Given the description of an element on the screen output the (x, y) to click on. 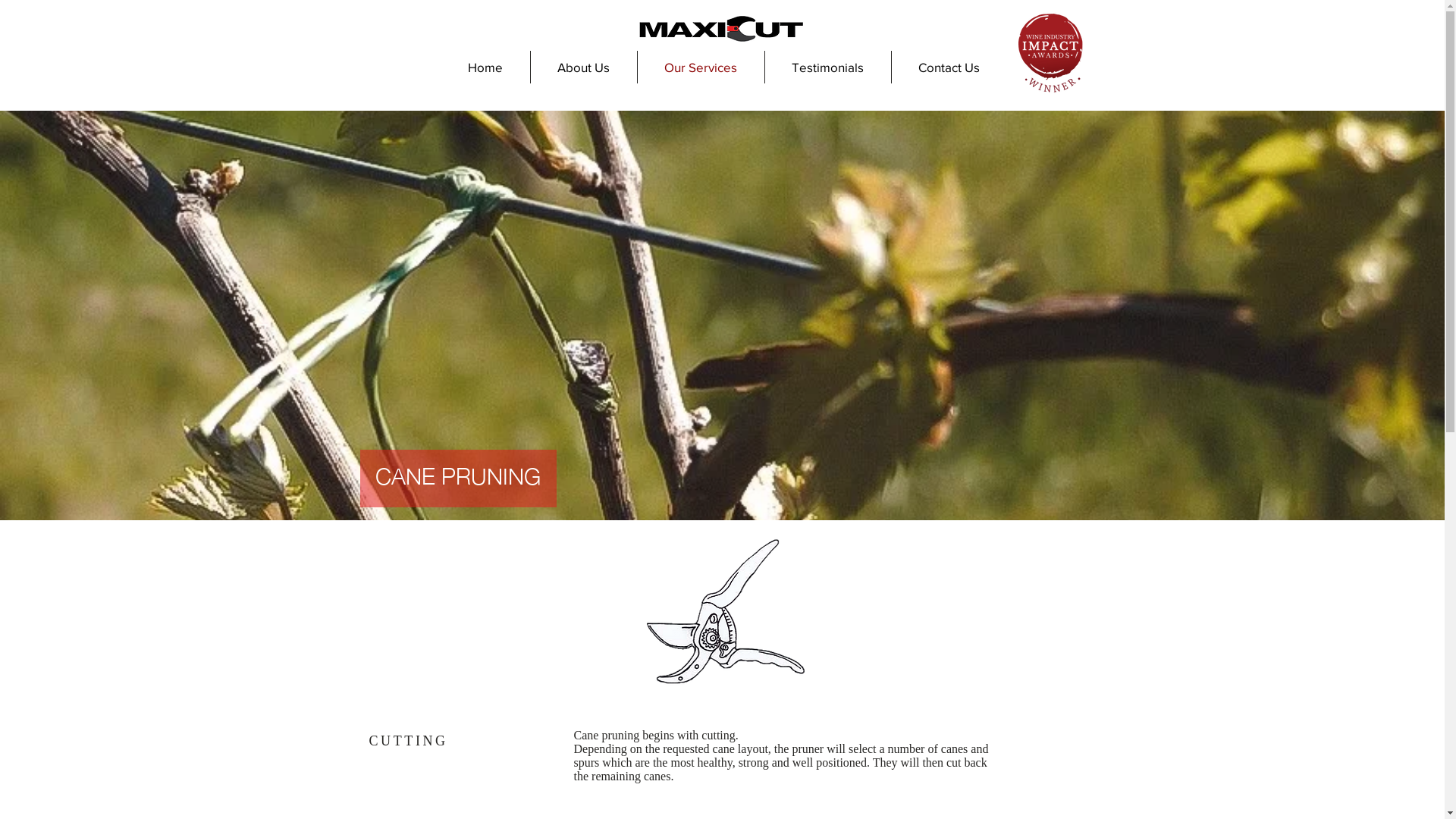
Our Services Element type: text (700, 66)
Contact Us Element type: text (948, 66)
About Us Element type: text (582, 66)
Home Element type: text (485, 66)
Testimonials Element type: text (827, 66)
